Given the description of an element on the screen output the (x, y) to click on. 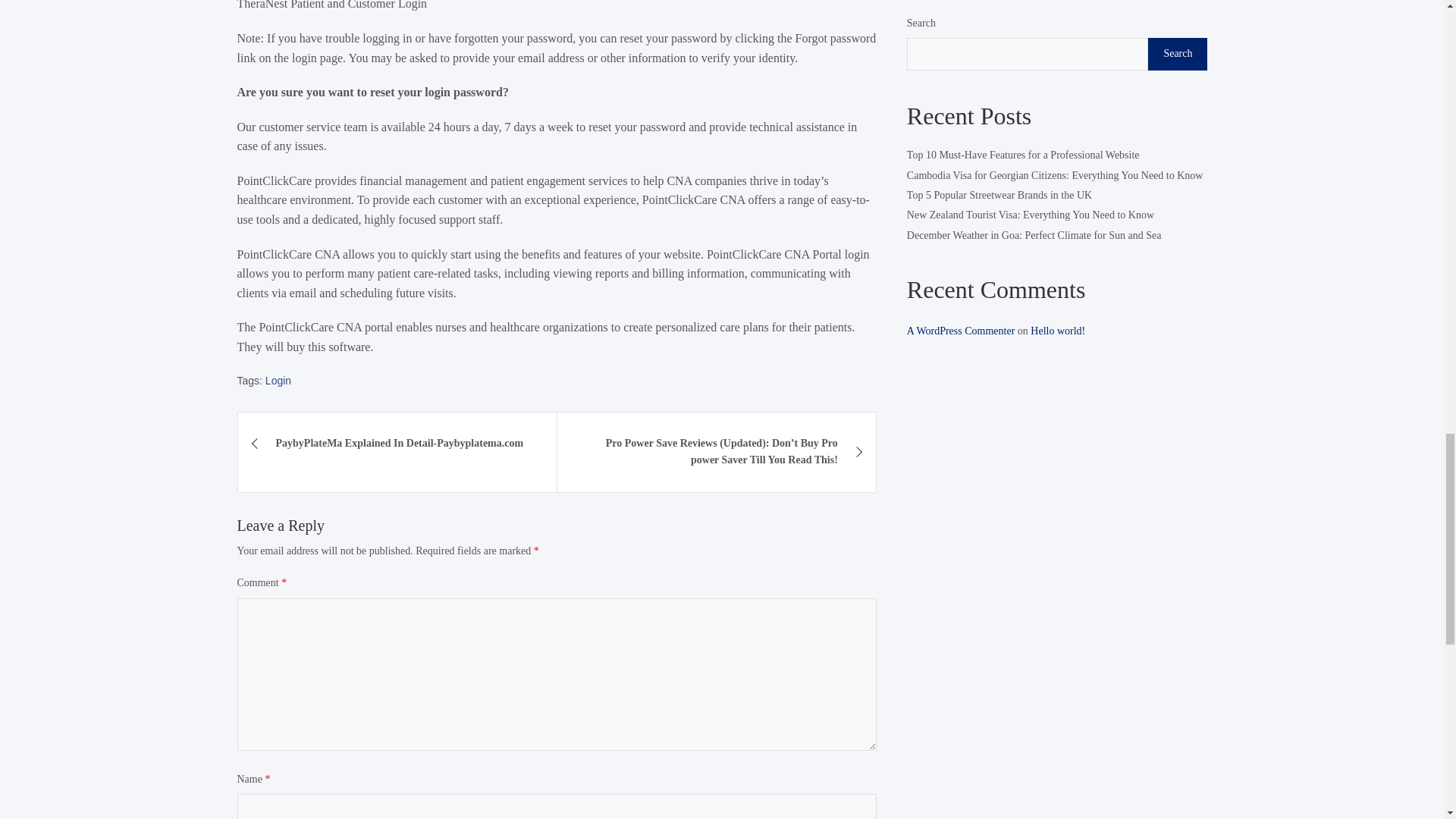
PaybyPlateMa Explained In Detail-Paybyplatema.com (397, 443)
Login (277, 380)
